Given the description of an element on the screen output the (x, y) to click on. 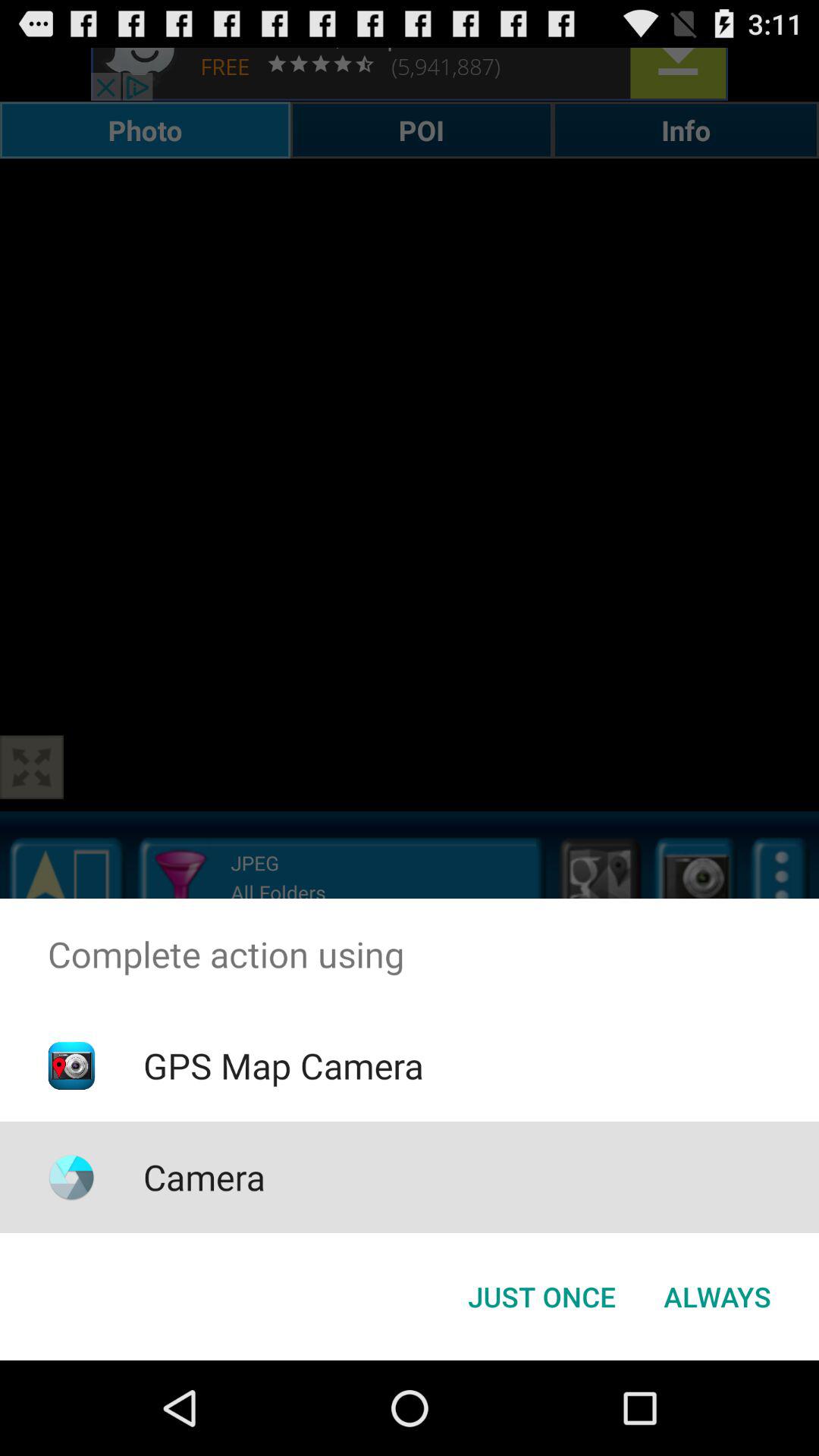
jump to the gps map camera (283, 1065)
